Given the description of an element on the screen output the (x, y) to click on. 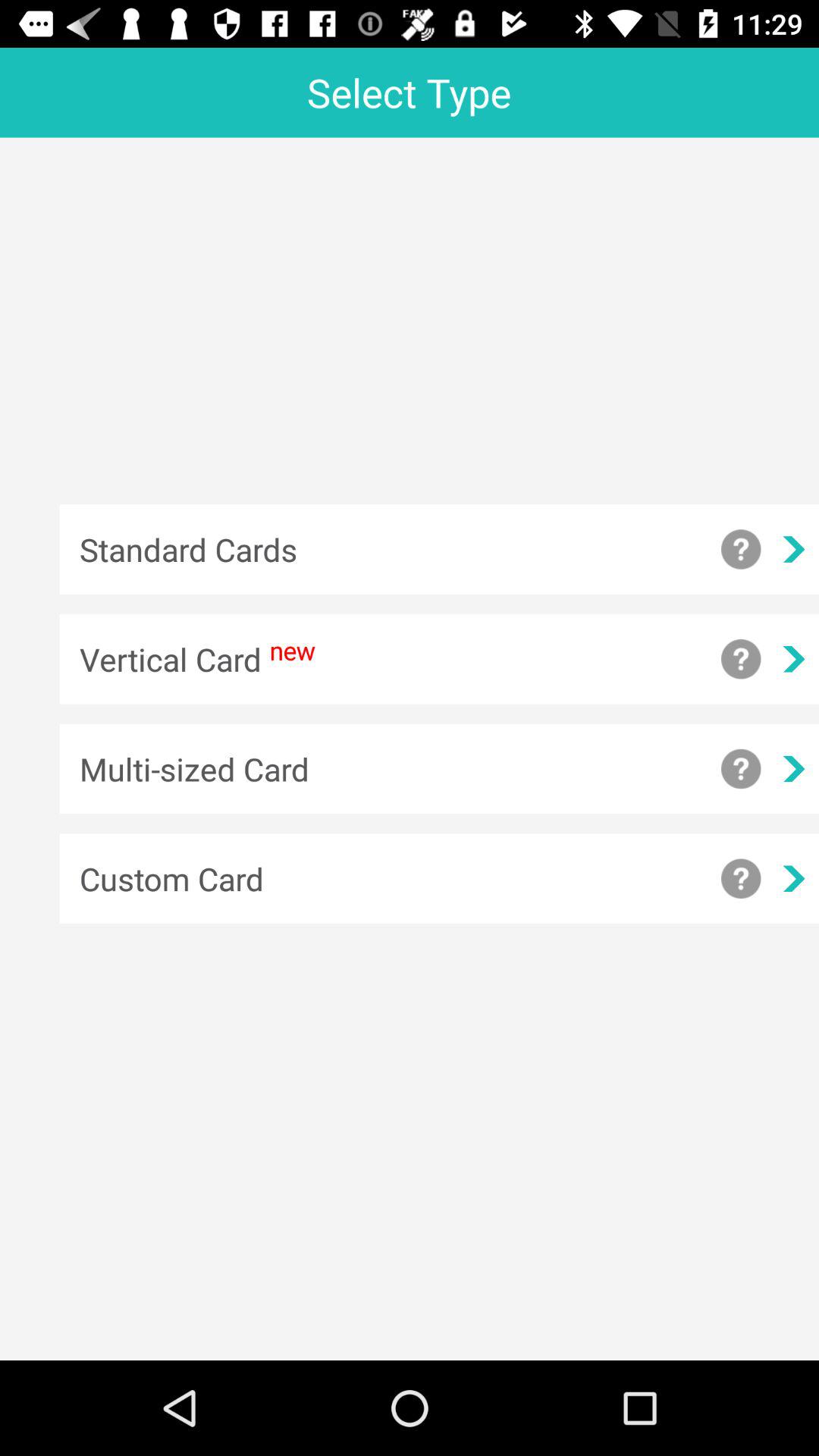
show standard cards information (740, 549)
